Given the description of an element on the screen output the (x, y) to click on. 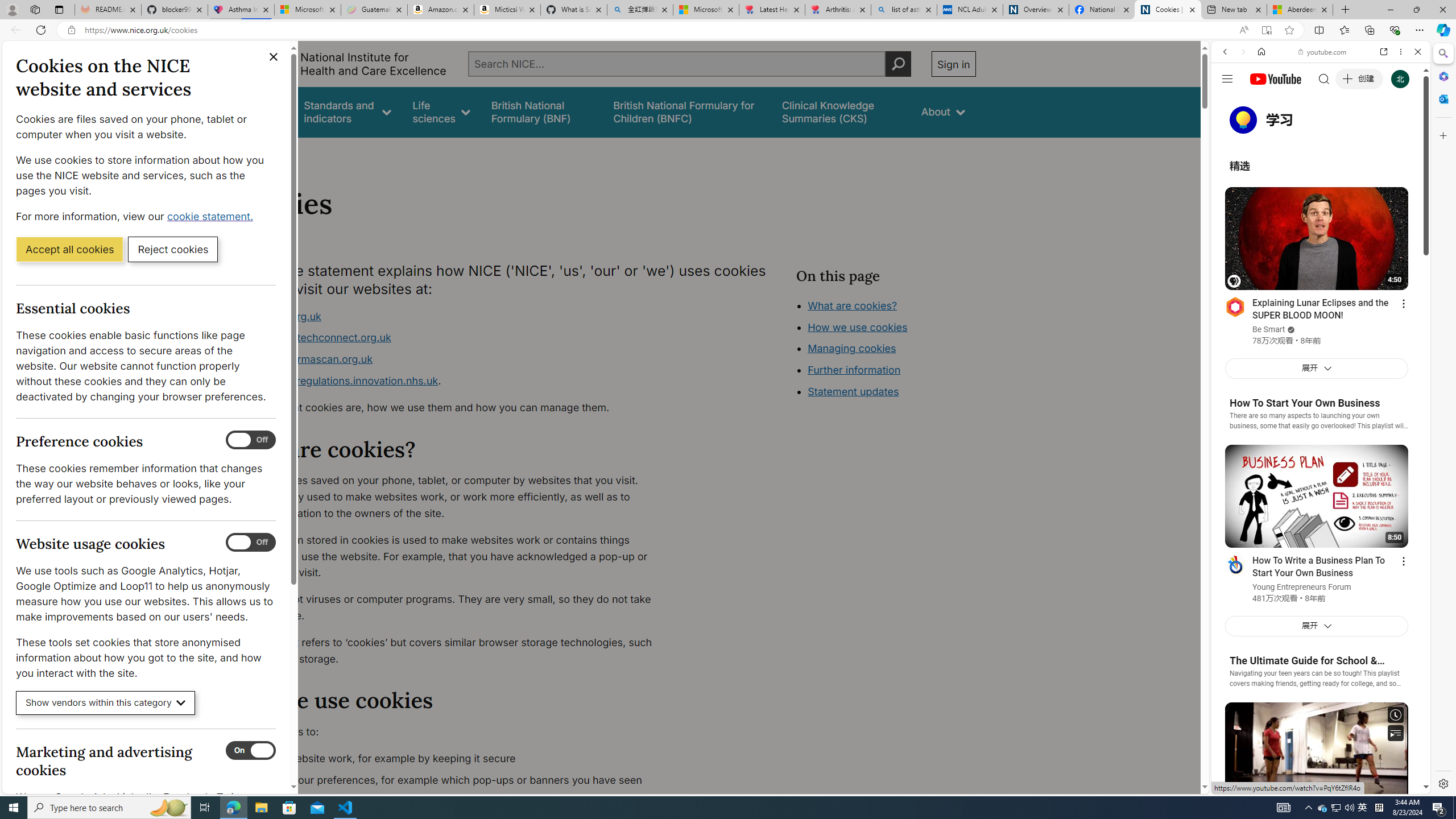
www.nice.org.uk (279, 315)
British National Formulary for Children (BNFC) (686, 111)
www.ukpharmascan.org.uk (452, 359)
Statement updates (853, 391)
